Given the description of an element on the screen output the (x, y) to click on. 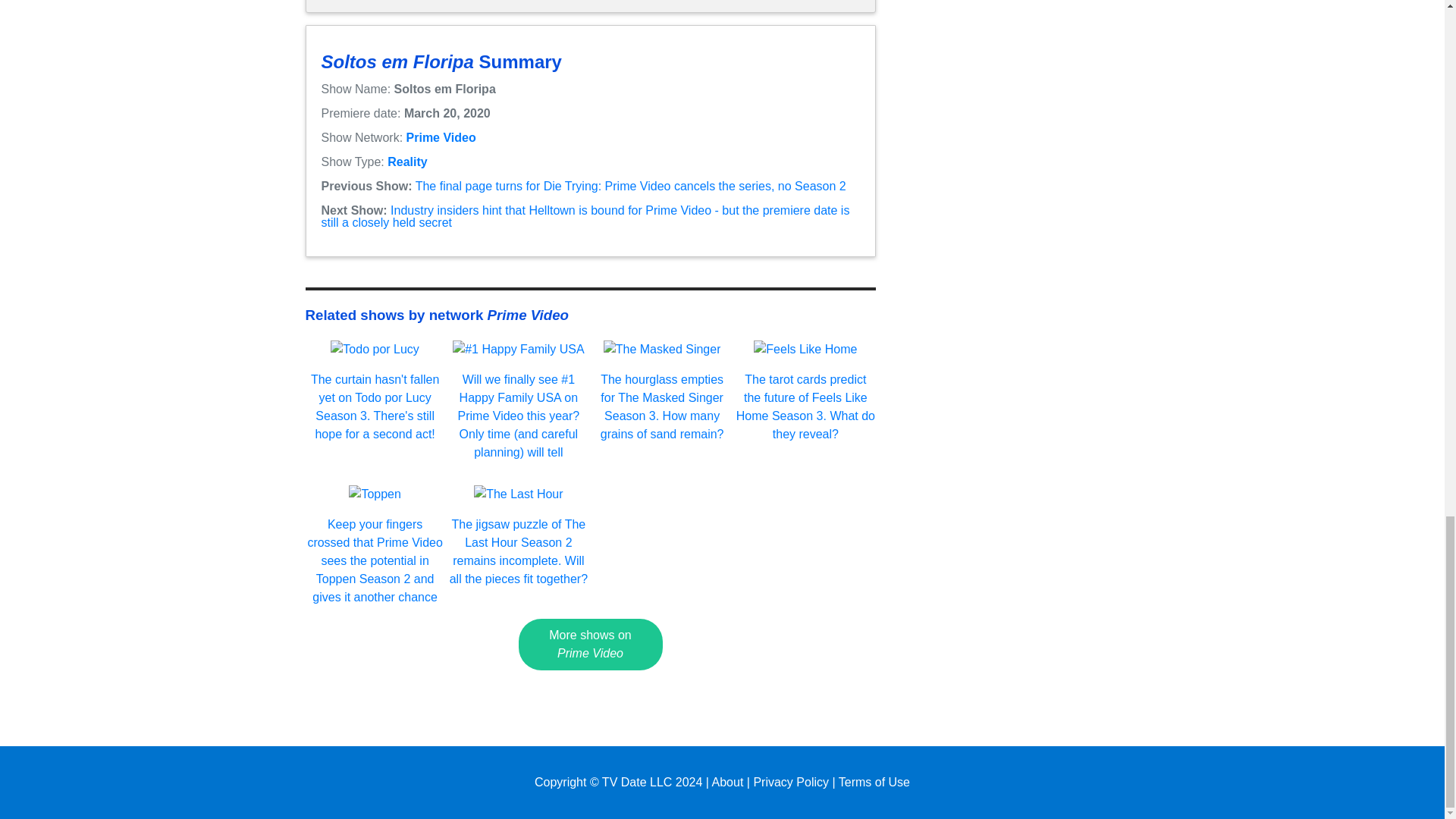
About (727, 781)
More shows on Prime Video (589, 644)
Reality (406, 161)
Prime Video (441, 137)
